Given the description of an element on the screen output the (x, y) to click on. 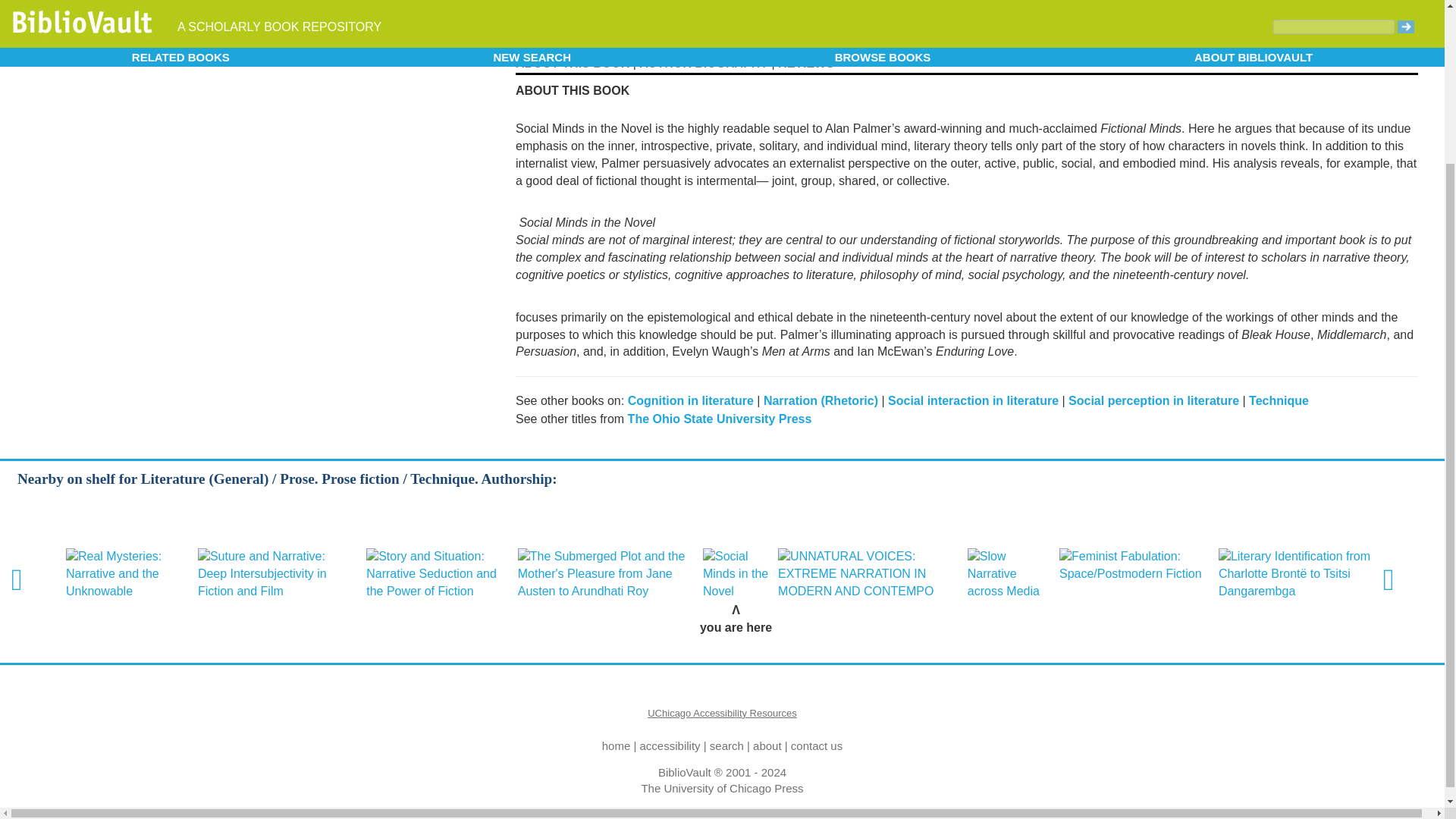
Social interaction in literature (973, 400)
Cognition in literature (690, 400)
Real Mysteries: Narrative and the Unknowable (127, 574)
